Given the description of an element on the screen output the (x, y) to click on. 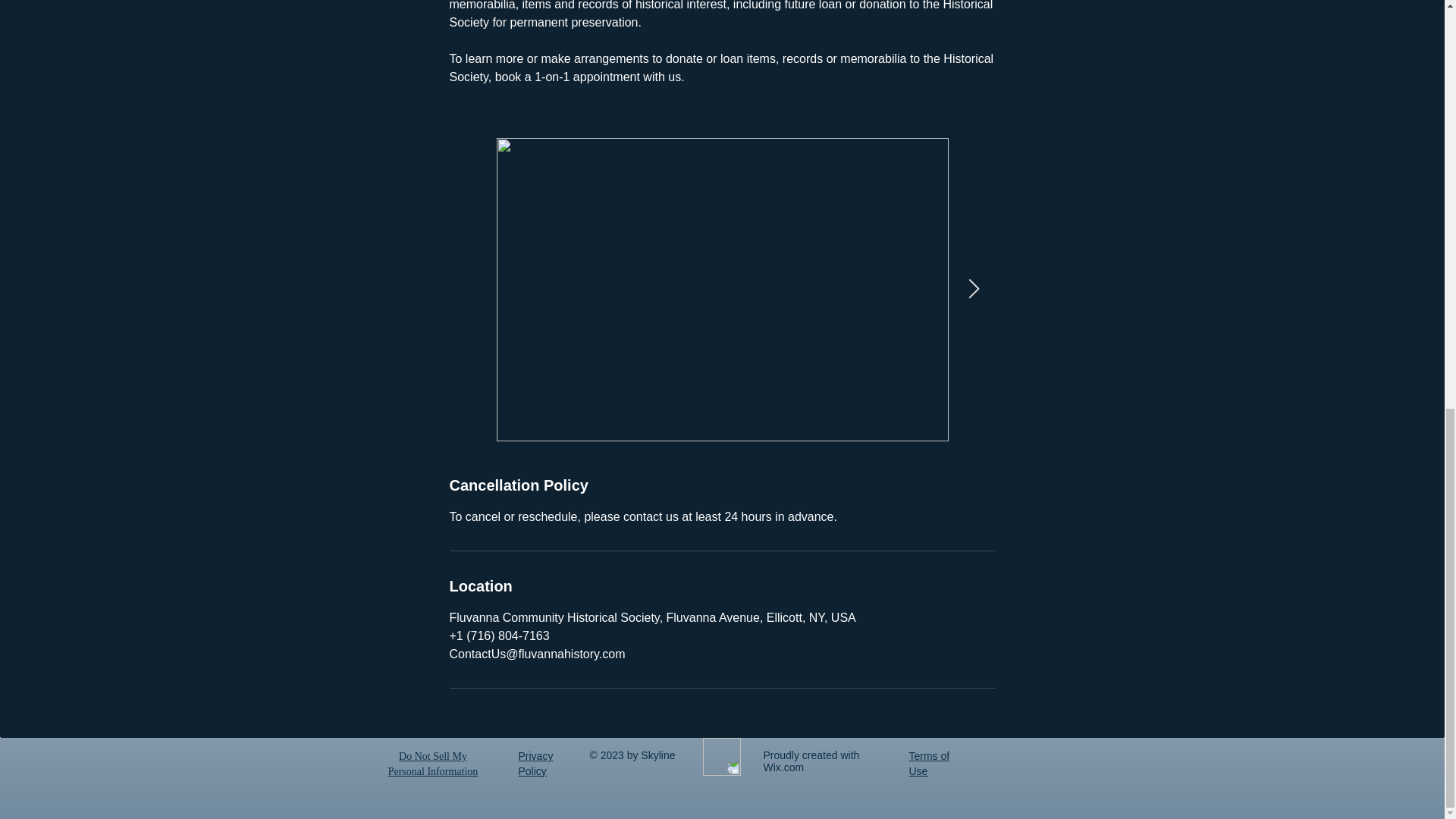
Privacy Policy (535, 763)
Proudly created with Wix.com (810, 761)
Terms of Use (928, 763)
Do Not Sell My Personal Information (432, 763)
